Given the description of an element on the screen output the (x, y) to click on. 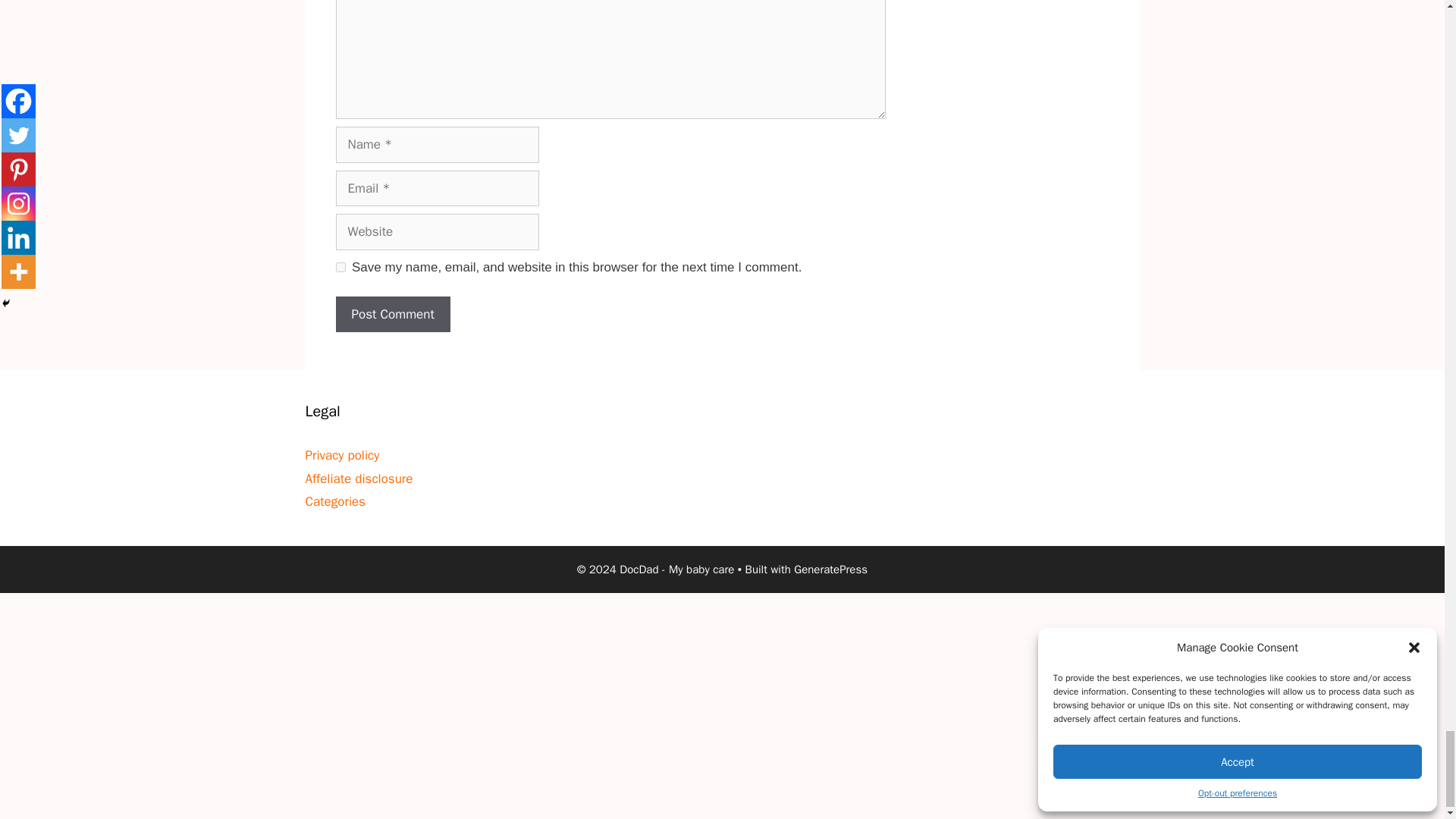
Post Comment (391, 314)
yes (339, 266)
